Given the description of an element on the screen output the (x, y) to click on. 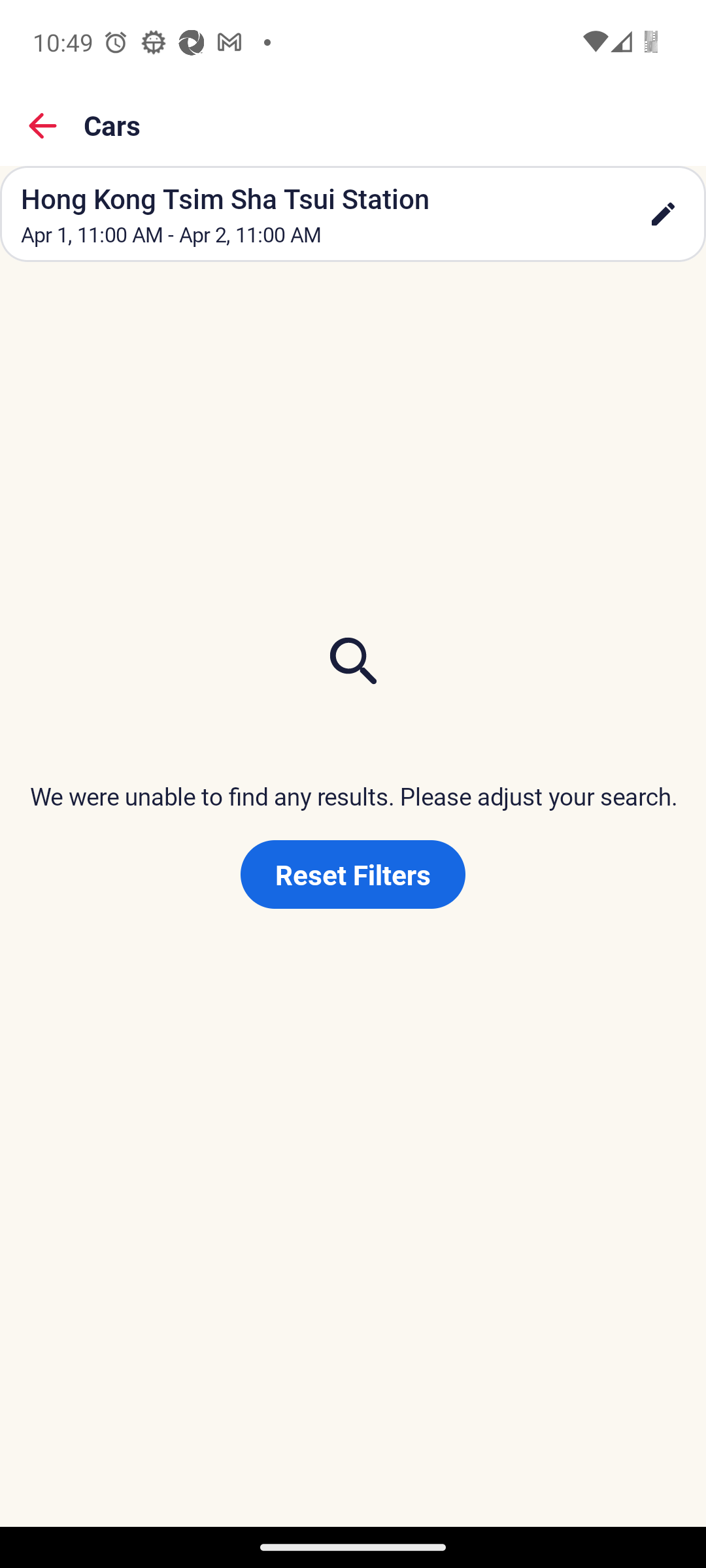
Back (43, 125)
edit (662, 213)
Reset Filters (352, 874)
